Given the description of an element on the screen output the (x, y) to click on. 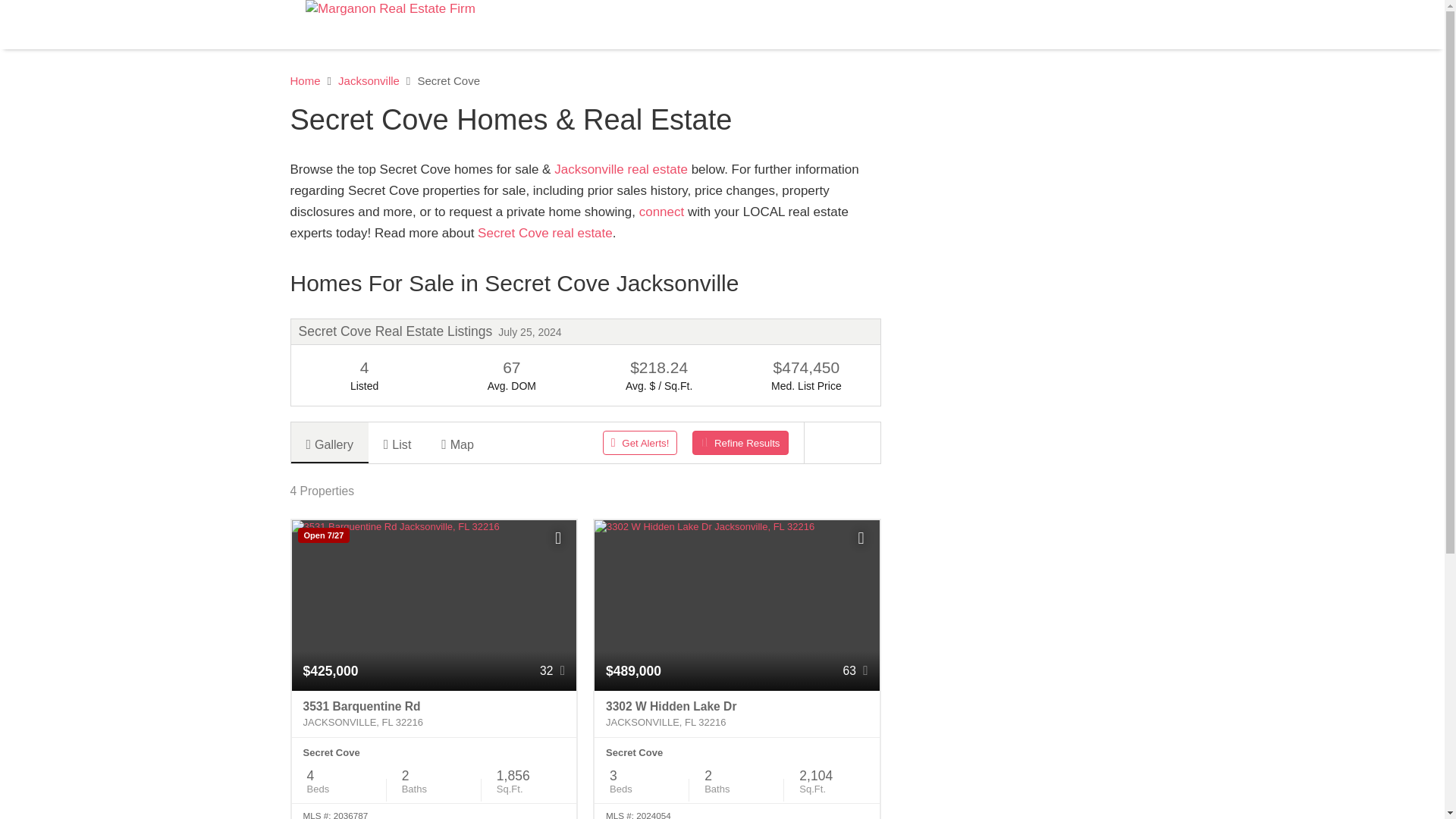
3302 W Hidden Lake Dr Jacksonville,  FL 32216 (736, 714)
3531 Barquentine Rd Jacksonville,  FL 32216 (433, 714)
